Given the description of an element on the screen output the (x, y) to click on. 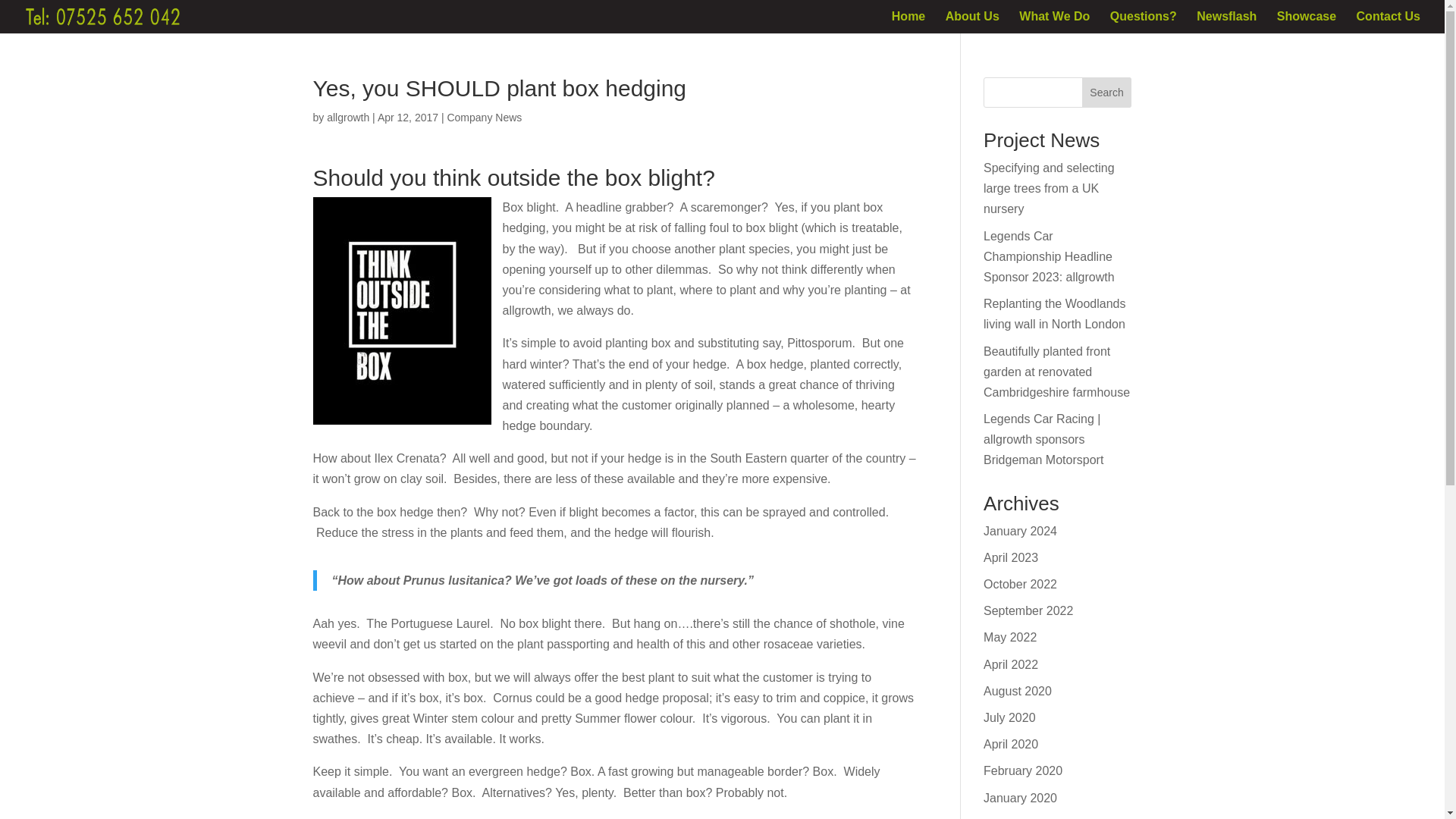
Showcase (1306, 22)
April 2023 (1011, 557)
Legends Car Championship Headline Sponsor 2023: allgrowth (1049, 256)
October 2022 (1020, 584)
February 2020 (1023, 770)
Newsflash (1226, 22)
allgrowth (347, 117)
April 2022 (1011, 664)
Contact Us (1388, 22)
Home (907, 22)
Replanting the Woodlands living wall in North London (1054, 313)
January 2024 (1020, 530)
September 2022 (1028, 610)
Search (1106, 91)
Company News (483, 117)
